Given the description of an element on the screen output the (x, y) to click on. 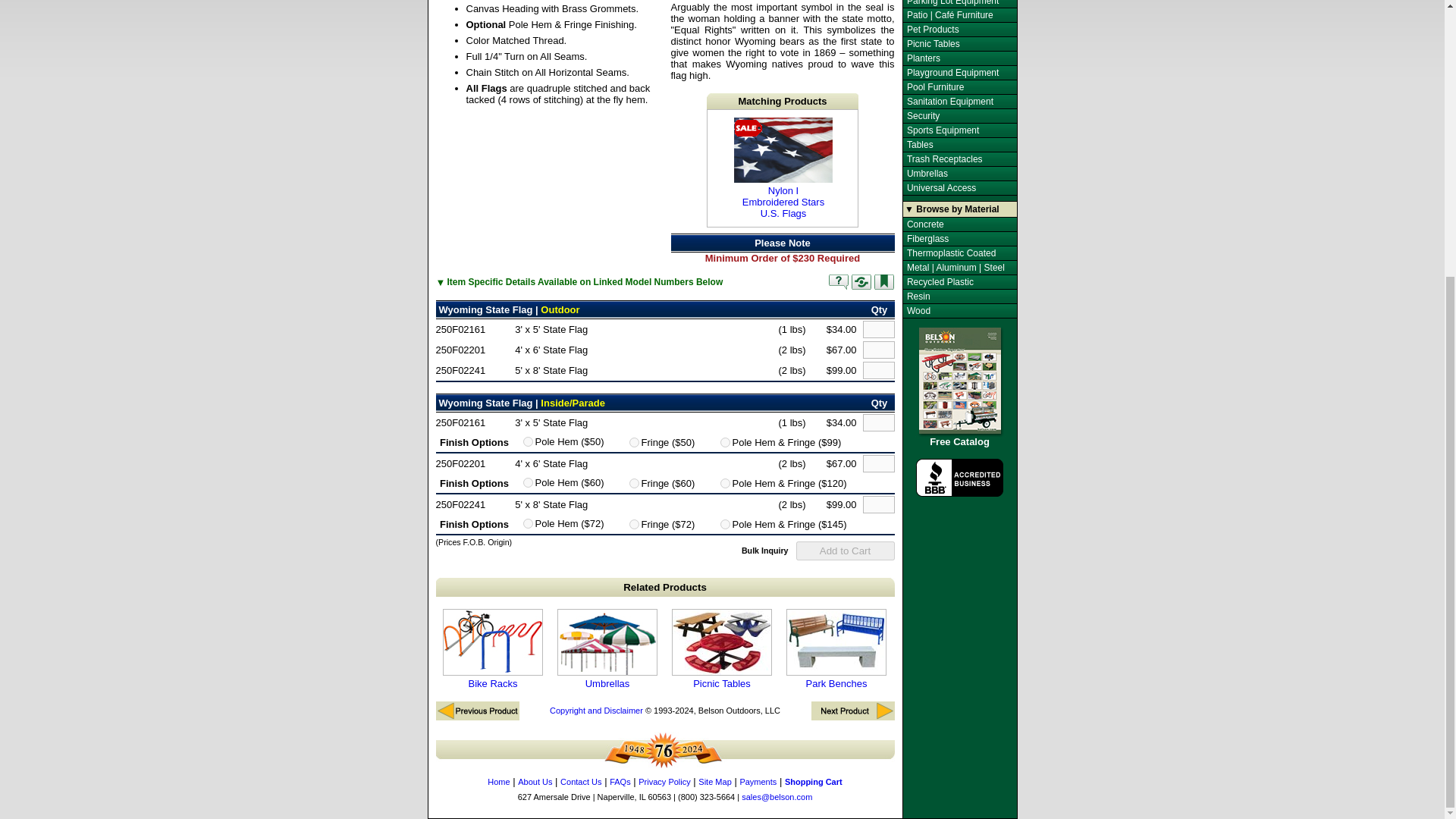
Payments (757, 781)
2 (725, 483)
Bulk Inquiry (783, 168)
Umbrellas (765, 549)
1 (607, 649)
Home (633, 524)
Bookmark (498, 781)
Ask An Expert (883, 281)
Copyright and Disclaimer (837, 281)
